Given the description of an element on the screen output the (x, y) to click on. 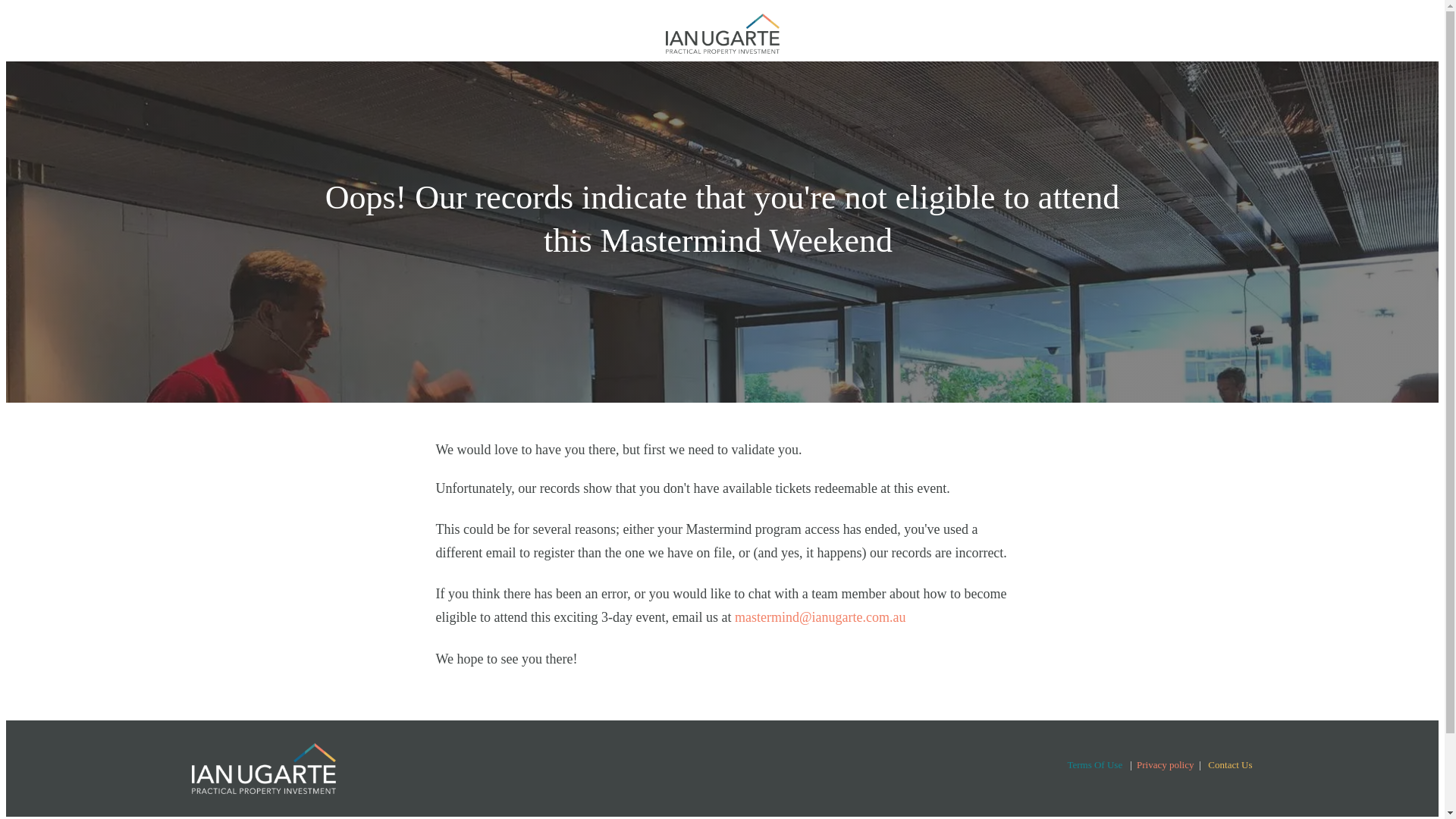
Contact Us (1230, 764)
IU - Primary Logo - Horizontal (262, 768)
Privacy policy (1165, 764)
Terms Of Use (1094, 764)
